Given the description of an element on the screen output the (x, y) to click on. 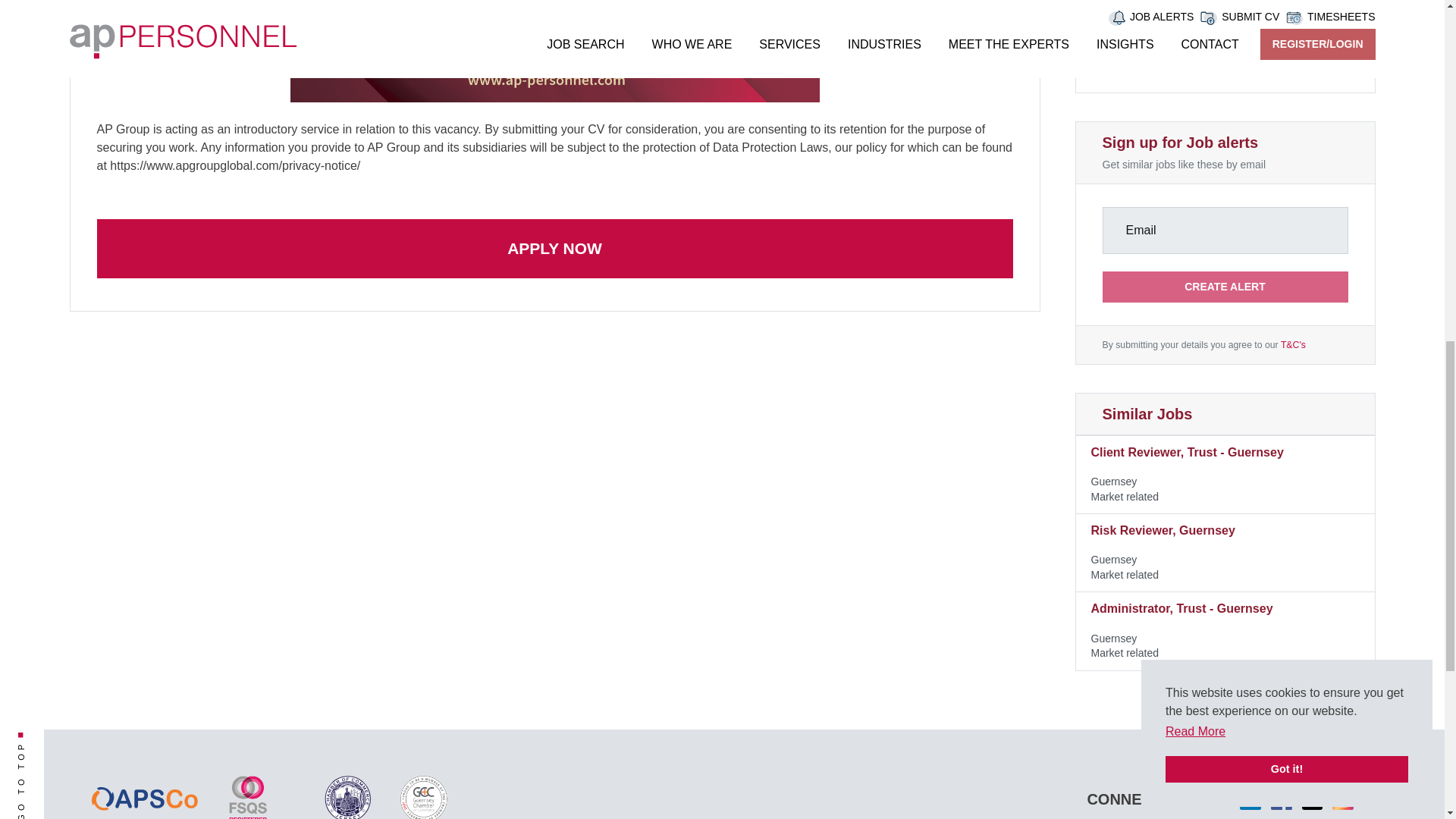
GO TO TOP (54, 741)
